Given the description of an element on the screen output the (x, y) to click on. 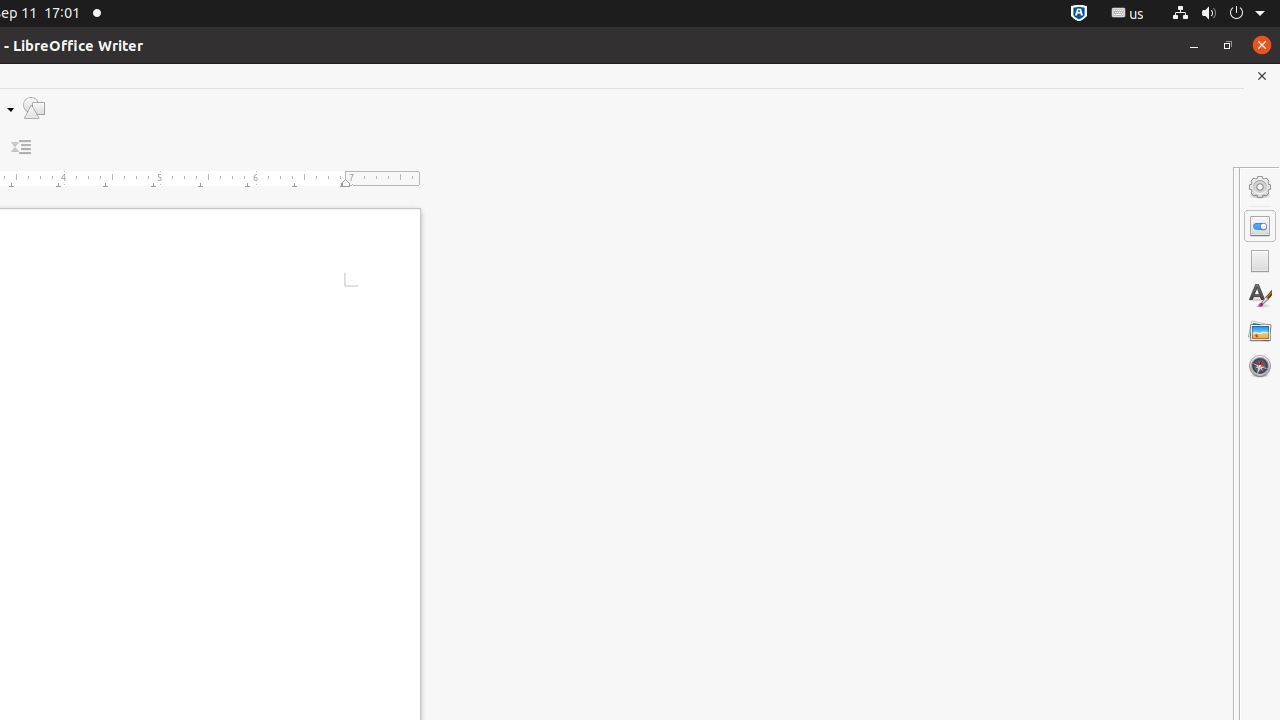
Page Element type: radio-button (1260, 261)
Properties Element type: radio-button (1260, 226)
Navigator Element type: radio-button (1260, 366)
Gallery Element type: radio-button (1260, 331)
